Given the description of an element on the screen output the (x, y) to click on. 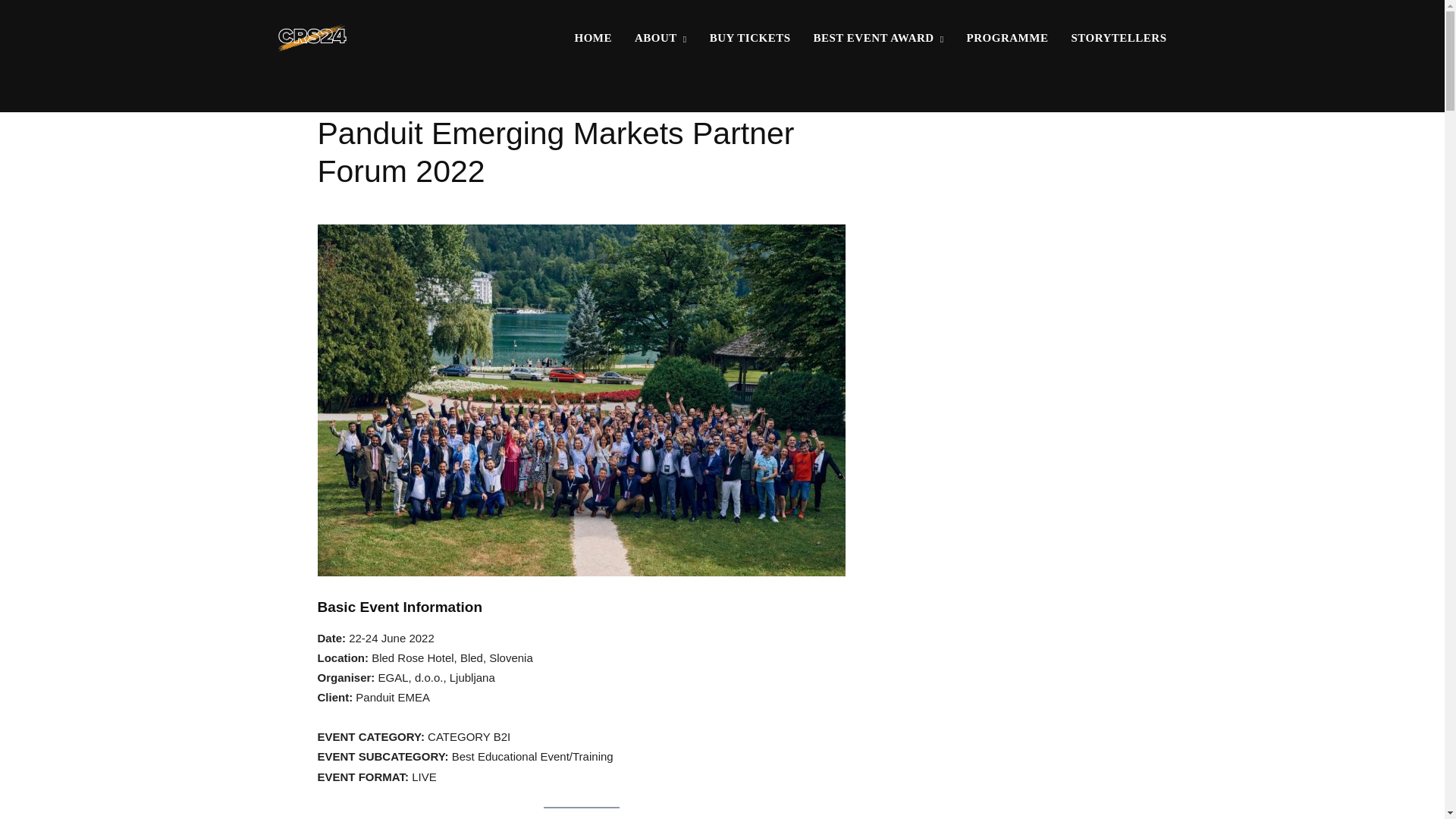
BEST EVENT AWARD (879, 38)
View all posts in CONVENTA BEST EVENT AWARD 2022 (439, 99)
BUY TICKETS (749, 38)
ABOUT (660, 38)
